Given the description of an element on the screen output the (x, y) to click on. 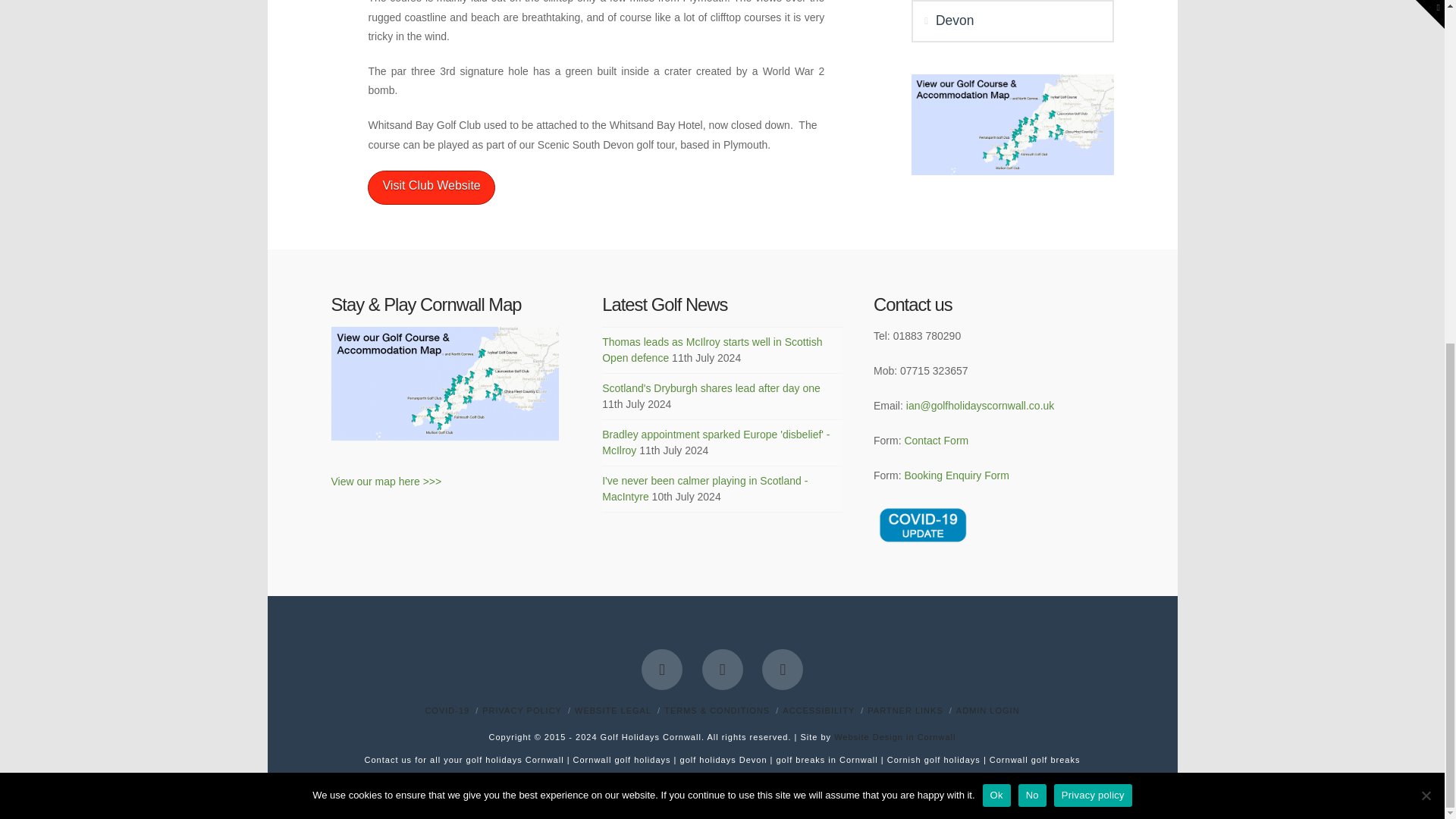
Twitter (721, 669)
LinkedIn (782, 669)
No (1425, 208)
Facebook (662, 669)
